Given the description of an element on the screen output the (x, y) to click on. 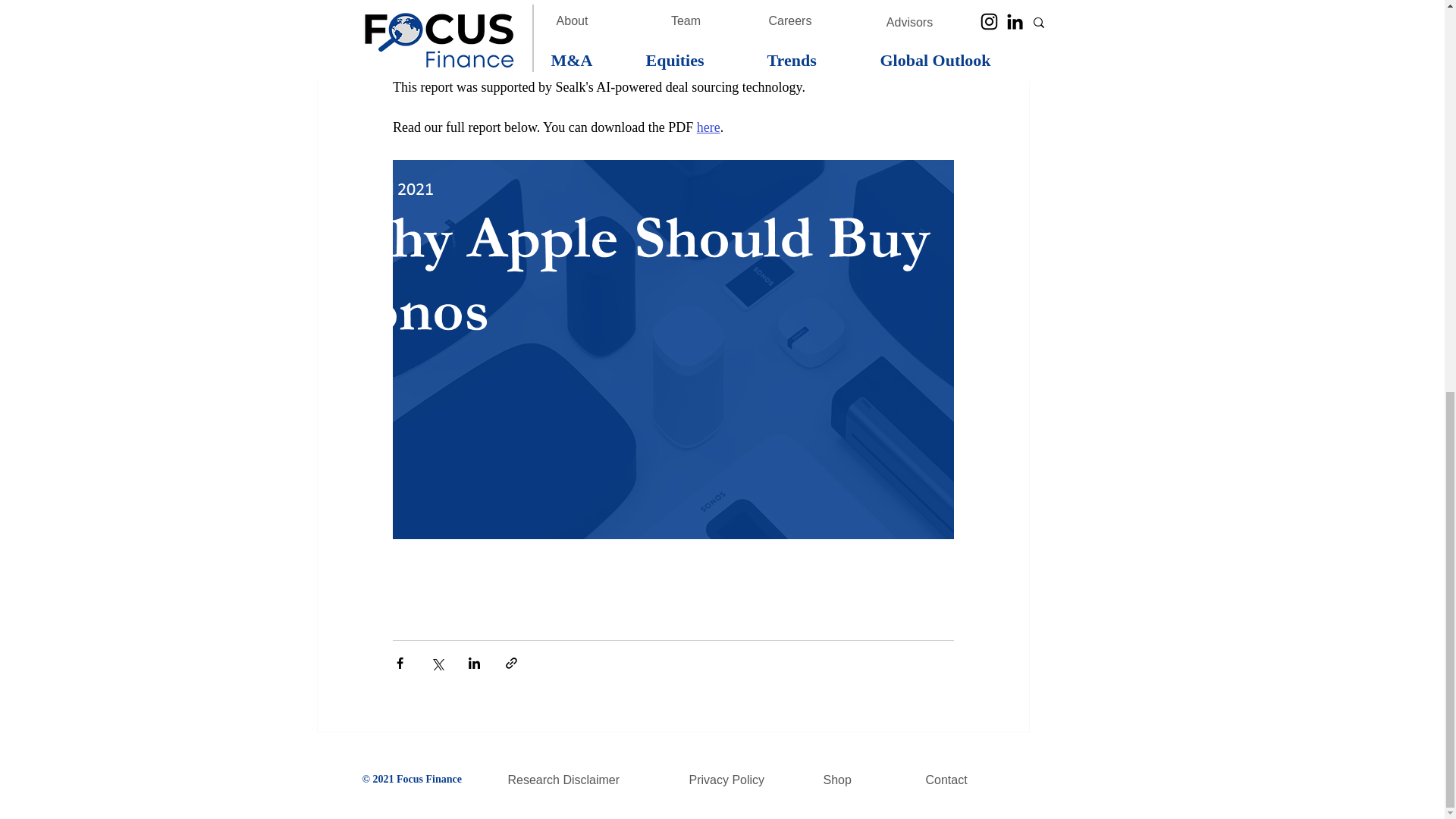
Privacy Policy (737, 779)
Research Disclaimer (569, 779)
here (707, 127)
Shop (855, 779)
Contact (956, 779)
